Given the description of an element on the screen output the (x, y) to click on. 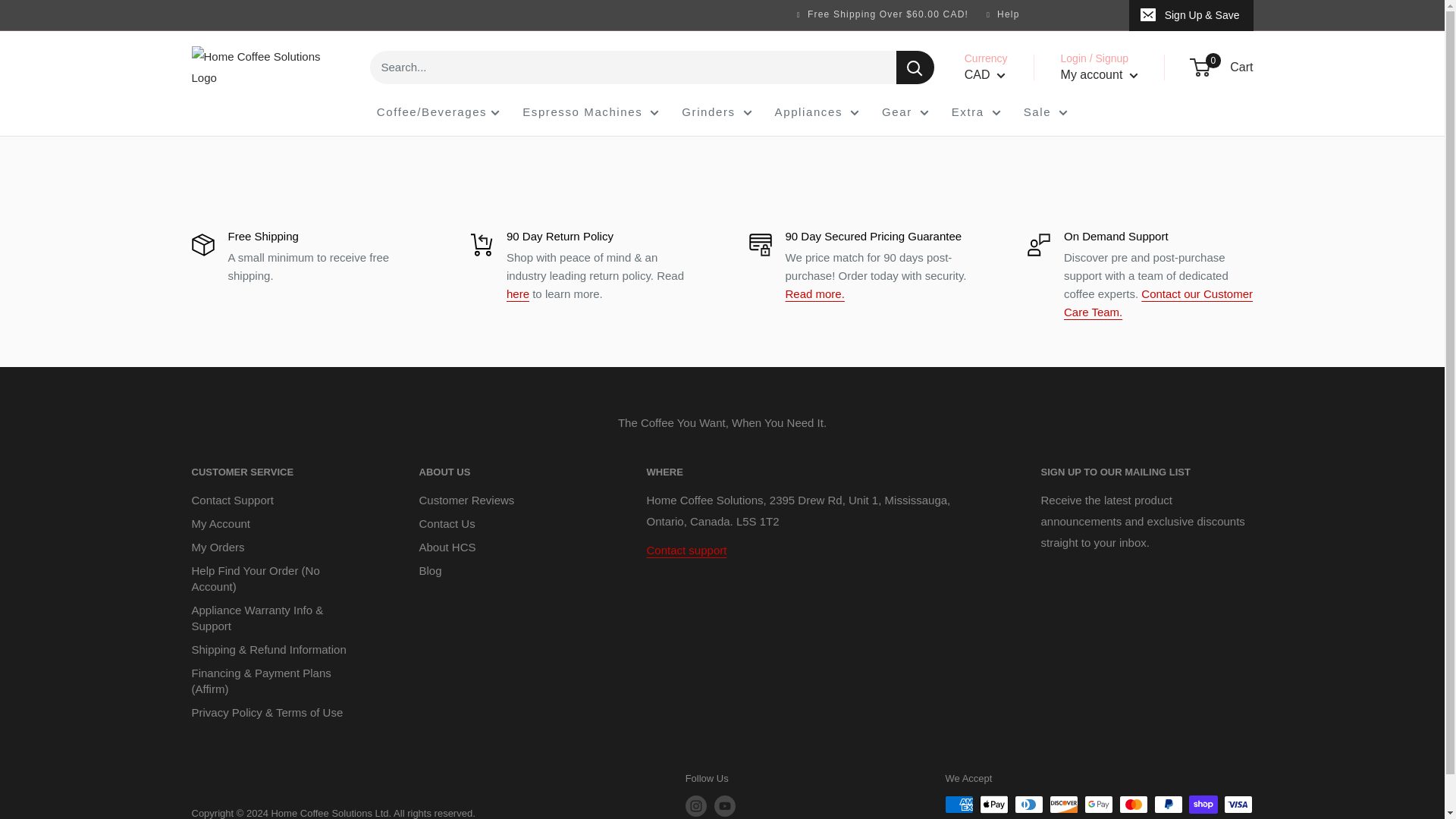
Contact Info (686, 549)
Contact Info (1158, 302)
  Help   (1006, 14)
90 Day Secured Lowest Price Guarantee (815, 293)
